Given the description of an element on the screen output the (x, y) to click on. 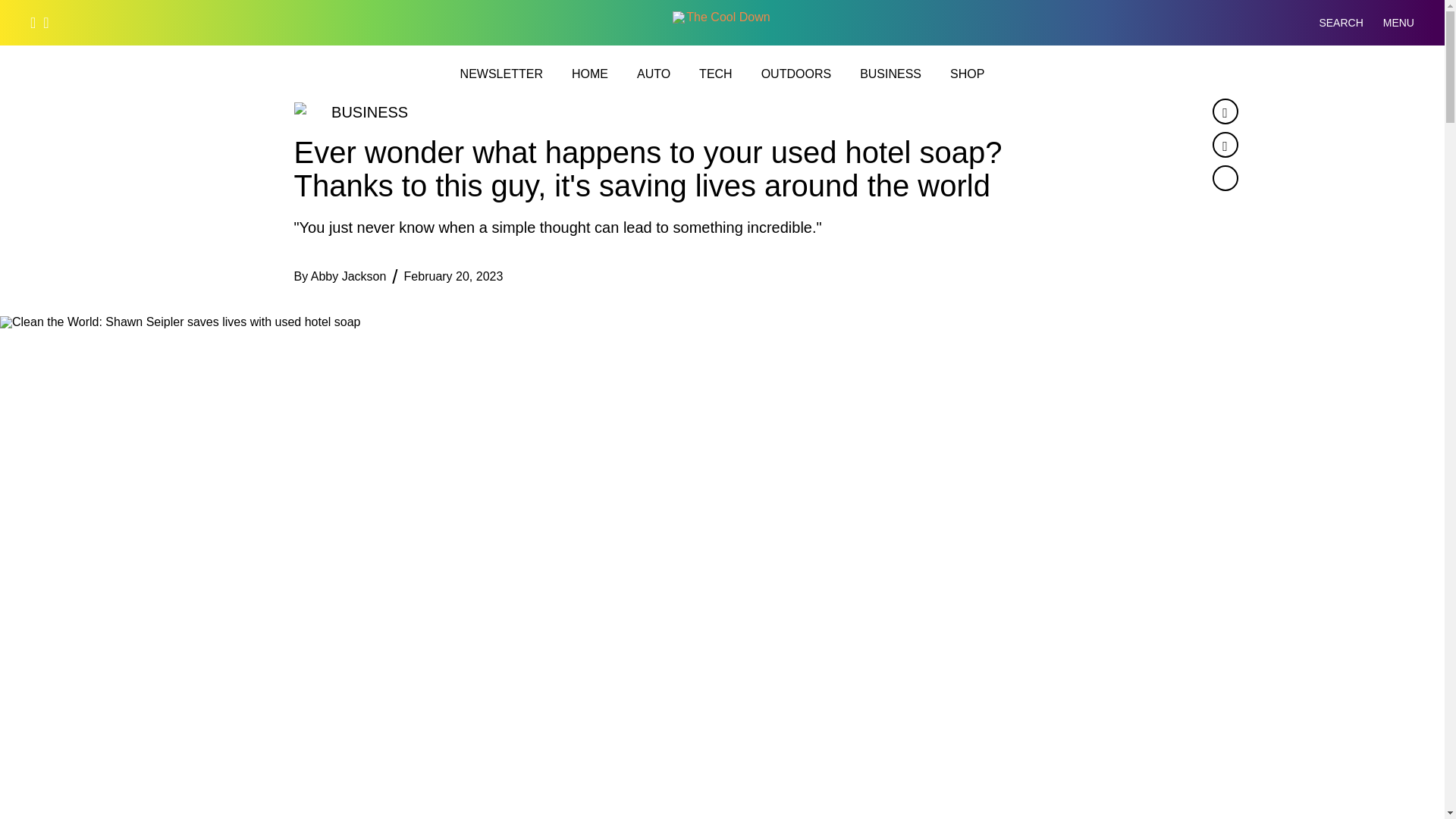
HOME (590, 73)
MENU (1398, 22)
SEARCH (1328, 22)
BUSINESS (890, 73)
Twitter (1224, 144)
SHOP (967, 73)
AUTO (653, 73)
OUTDOORS (796, 73)
TECH (715, 73)
NEWSLETTER (501, 73)
